Given the description of an element on the screen output the (x, y) to click on. 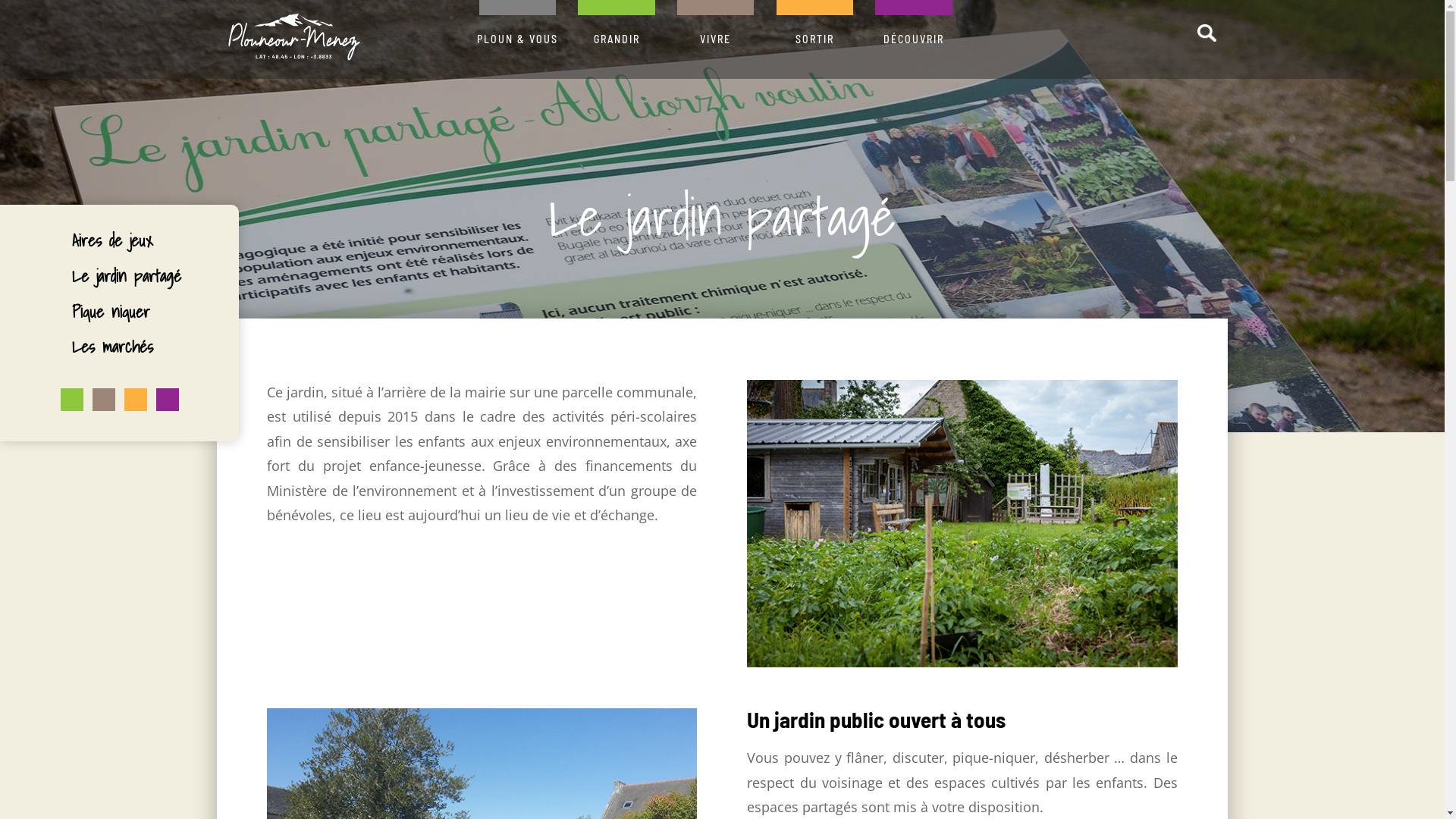
PLOUN & VOUS Element type: text (517, 38)
GRANDIR Element type: text (616, 38)
SORTIR Element type: text (814, 38)
Pique niquer Element type: text (110, 311)
Chercher Element type: text (1080, 47)
Aires de jeux Element type: text (111, 239)
Ploneour Menez Element type: hover (293, 42)
VIVRE Element type: text (715, 38)
